Given the description of an element on the screen output the (x, y) to click on. 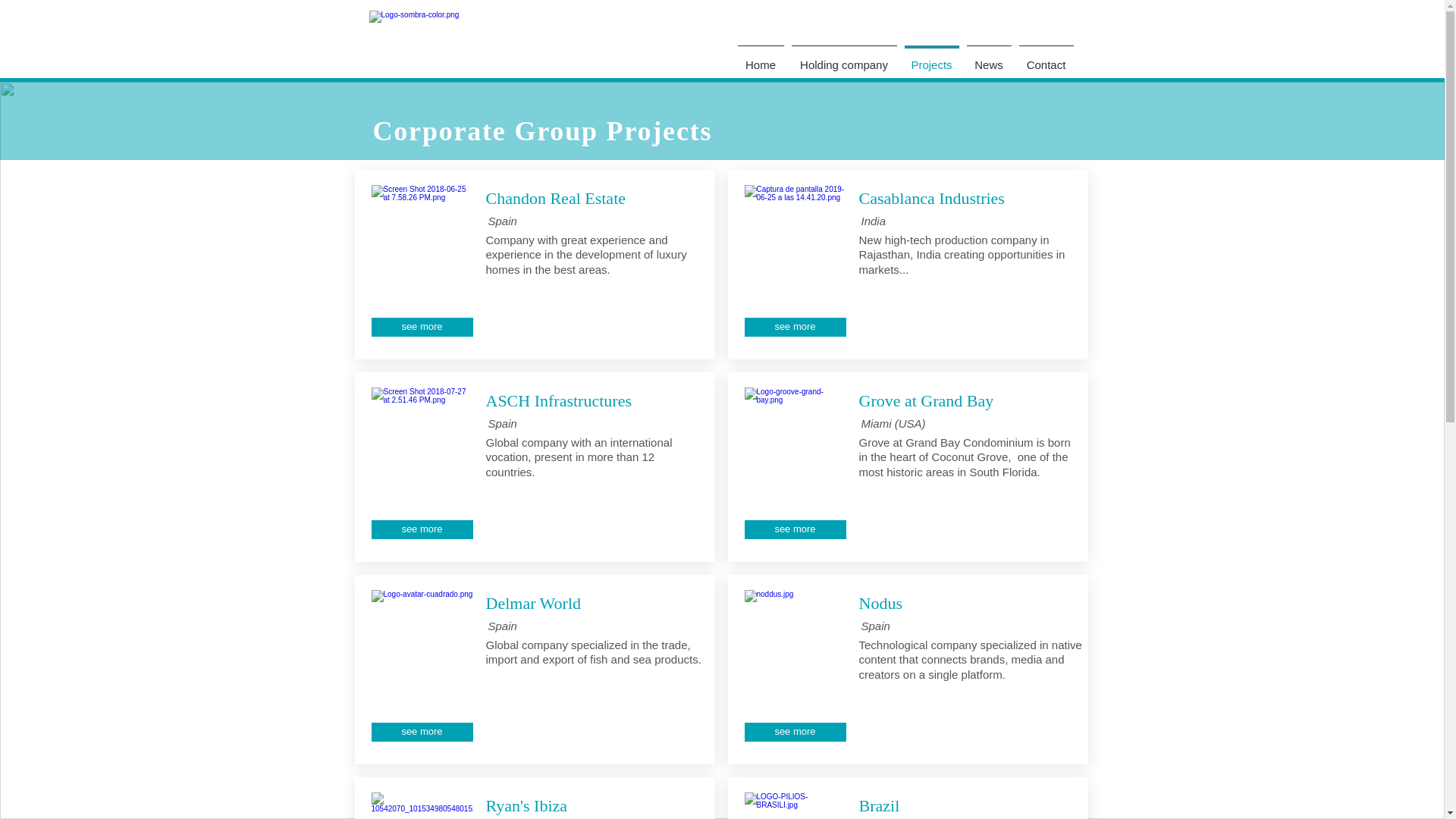
see more (794, 732)
see more (422, 529)
see more (794, 326)
News (988, 57)
Projects (931, 57)
see more (794, 529)
Home (760, 57)
see more (422, 732)
Holding company (843, 57)
see more (422, 326)
